Given the description of an element on the screen output the (x, y) to click on. 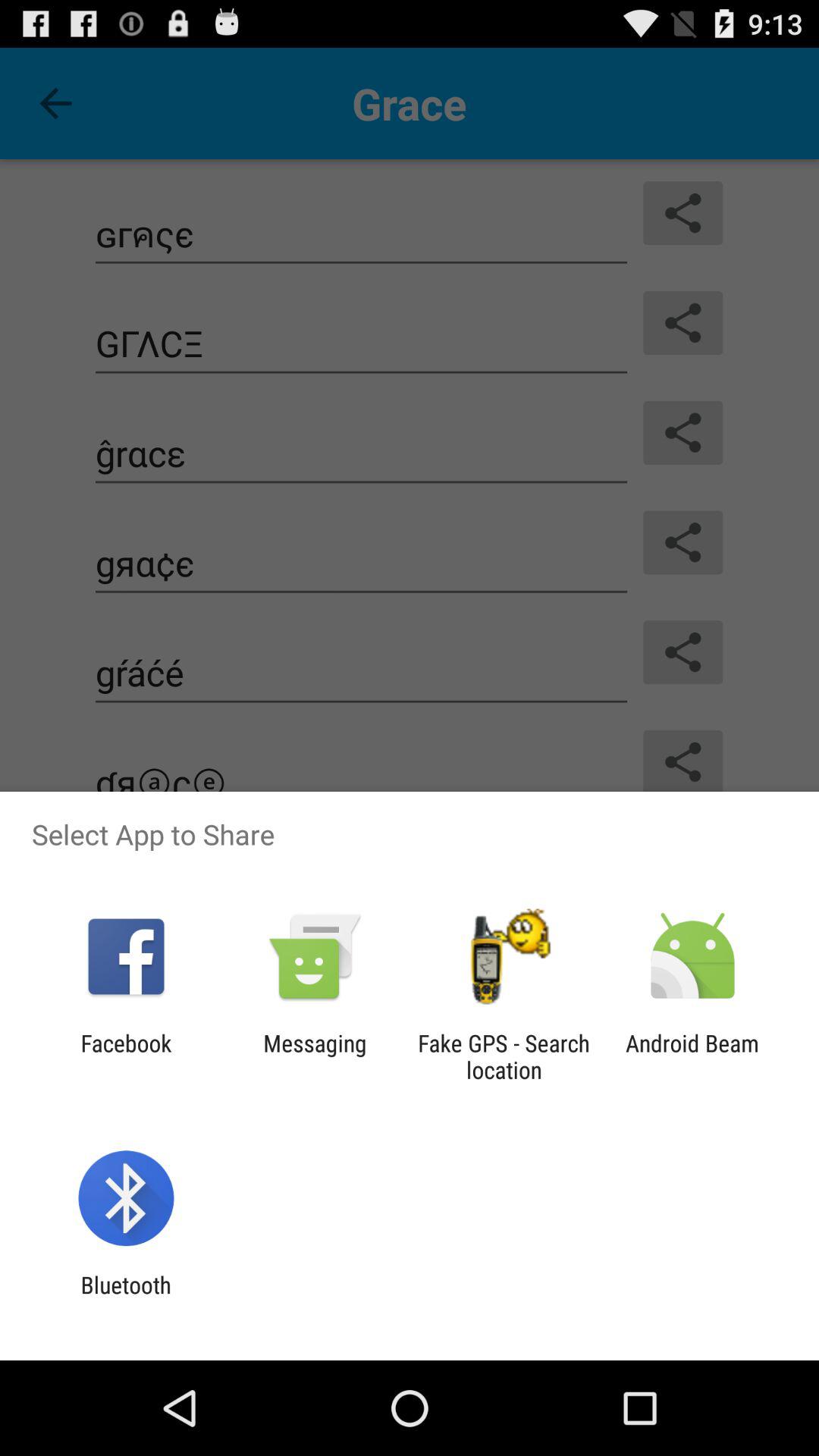
turn off the app next to fake gps search item (314, 1056)
